Given the description of an element on the screen output the (x, y) to click on. 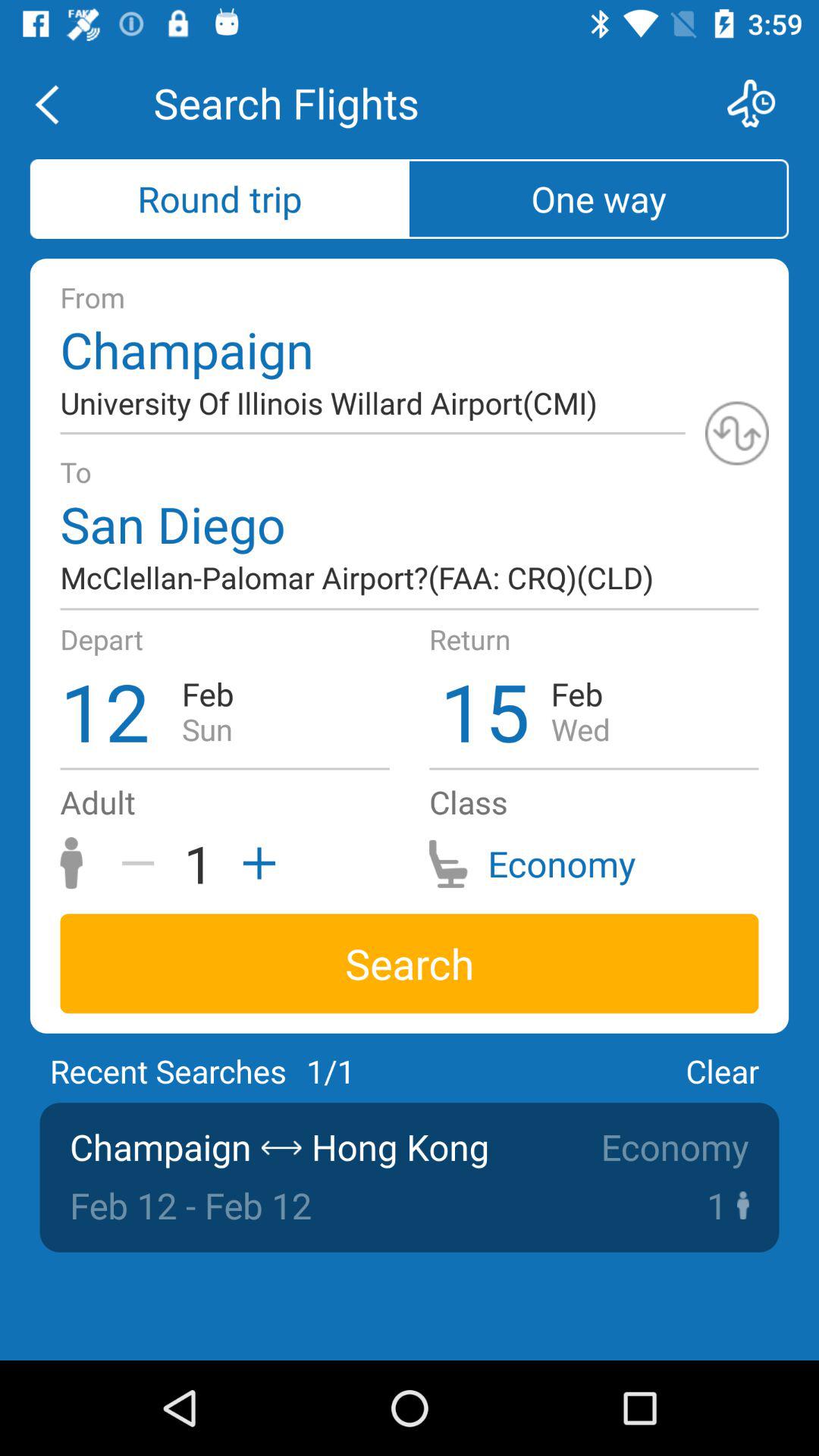
increase value by 1 (254, 863)
